Given the description of an element on the screen output the (x, y) to click on. 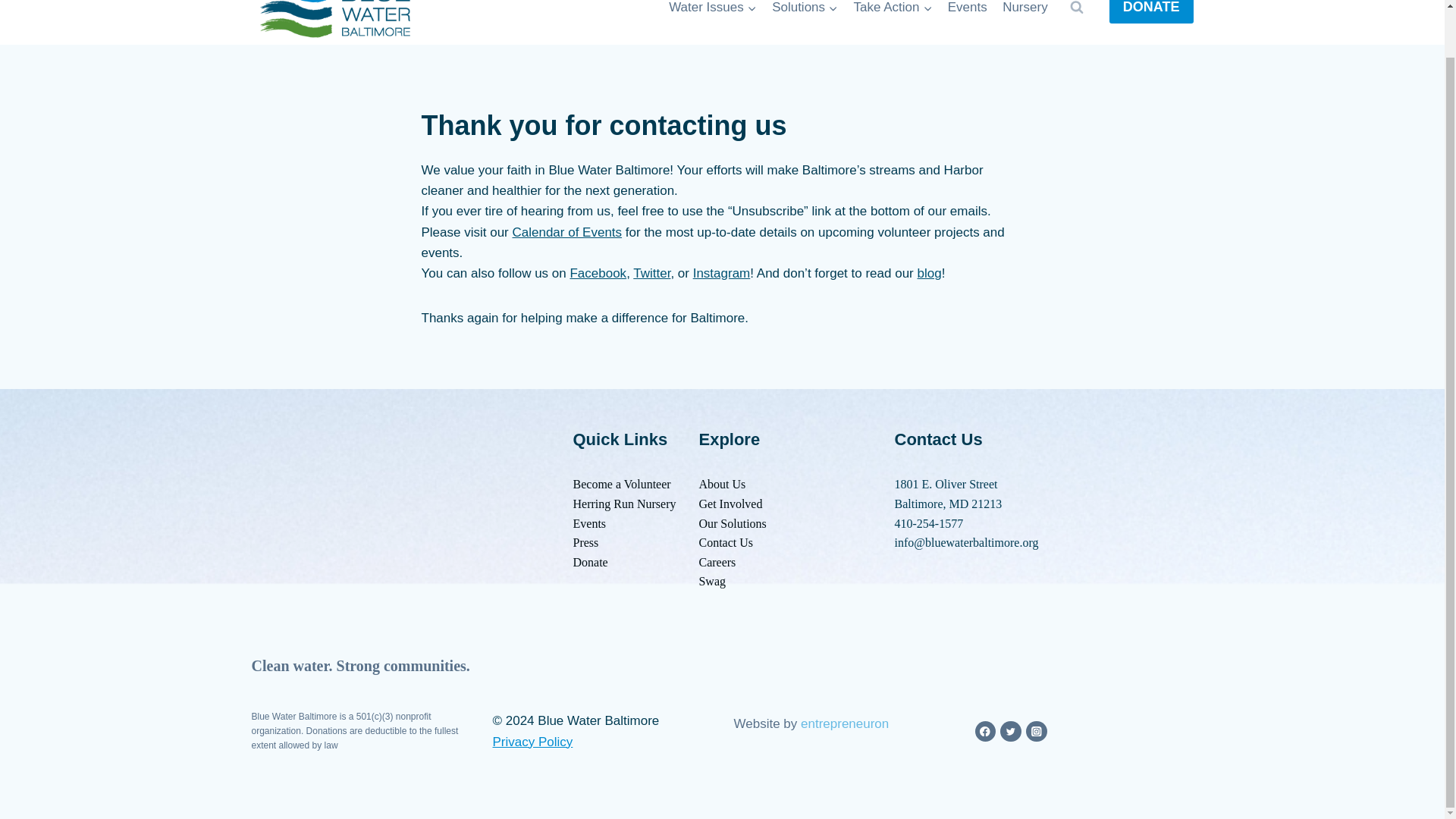
About Us (721, 483)
Events (590, 522)
Take Action (892, 12)
blog (928, 273)
Press (585, 542)
Twitter (651, 273)
Donate (590, 562)
Water Issues (712, 12)
Instagram (722, 273)
DONATE (1151, 11)
